Given the description of an element on the screen output the (x, y) to click on. 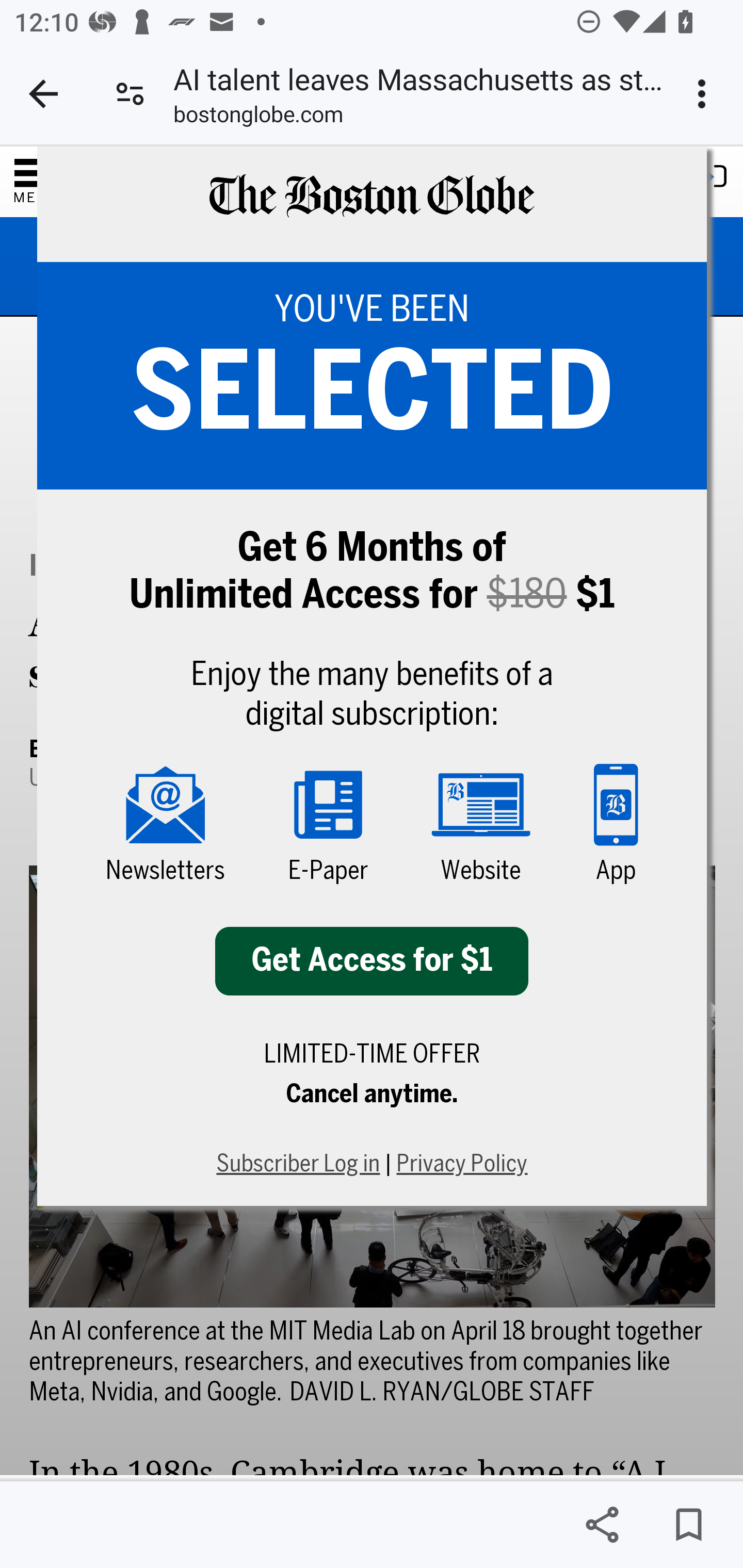
Close tab (43, 93)
Customize and control Google Chrome (705, 93)
Connection is secure (129, 93)
bostonglobe.com (258, 117)
The Boston Globe (370, 205)
YOU'VE BEEN SELECTED YOU'VE BEEN
SELECTED (372, 375)
Get Access for $1 (371, 961)
Subscriber Log in (297, 1164)
Privacy Policy (462, 1164)
Share (601, 1524)
Save for later (688, 1524)
